Given the description of an element on the screen output the (x, y) to click on. 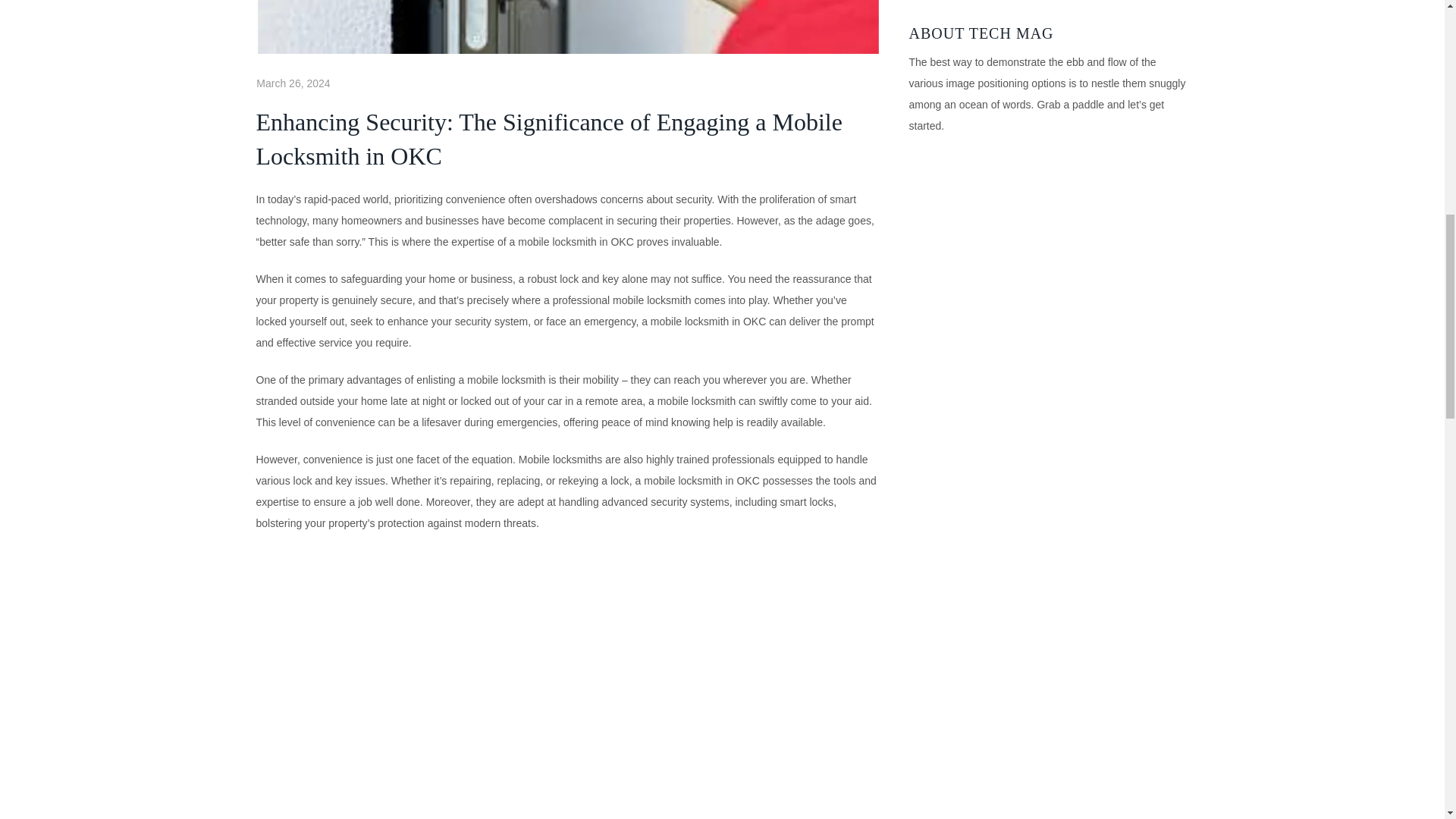
March 26, 2024 (293, 82)
